Given the description of an element on the screen output the (x, y) to click on. 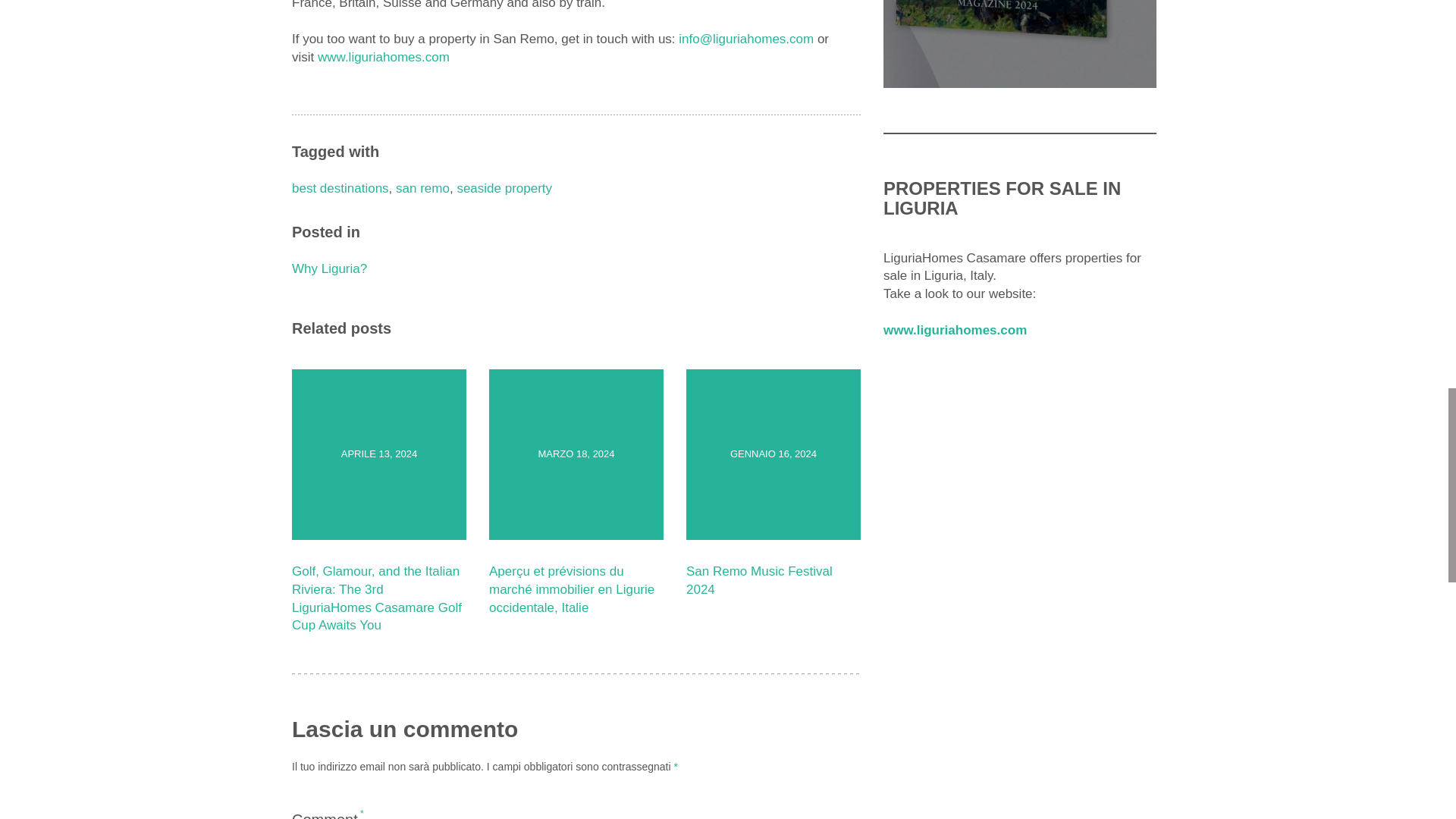
best destinations (340, 187)
APRILE 13, 2024 (378, 454)
San Remo Music Festival 2024 (758, 580)
san remo (422, 187)
Why Liguria? (329, 268)
GENNAIO 16, 2024 (772, 454)
MARZO 18, 2024 (576, 454)
seaside property (504, 187)
www.liguriahomes.com (383, 56)
